Given the description of an element on the screen output the (x, y) to click on. 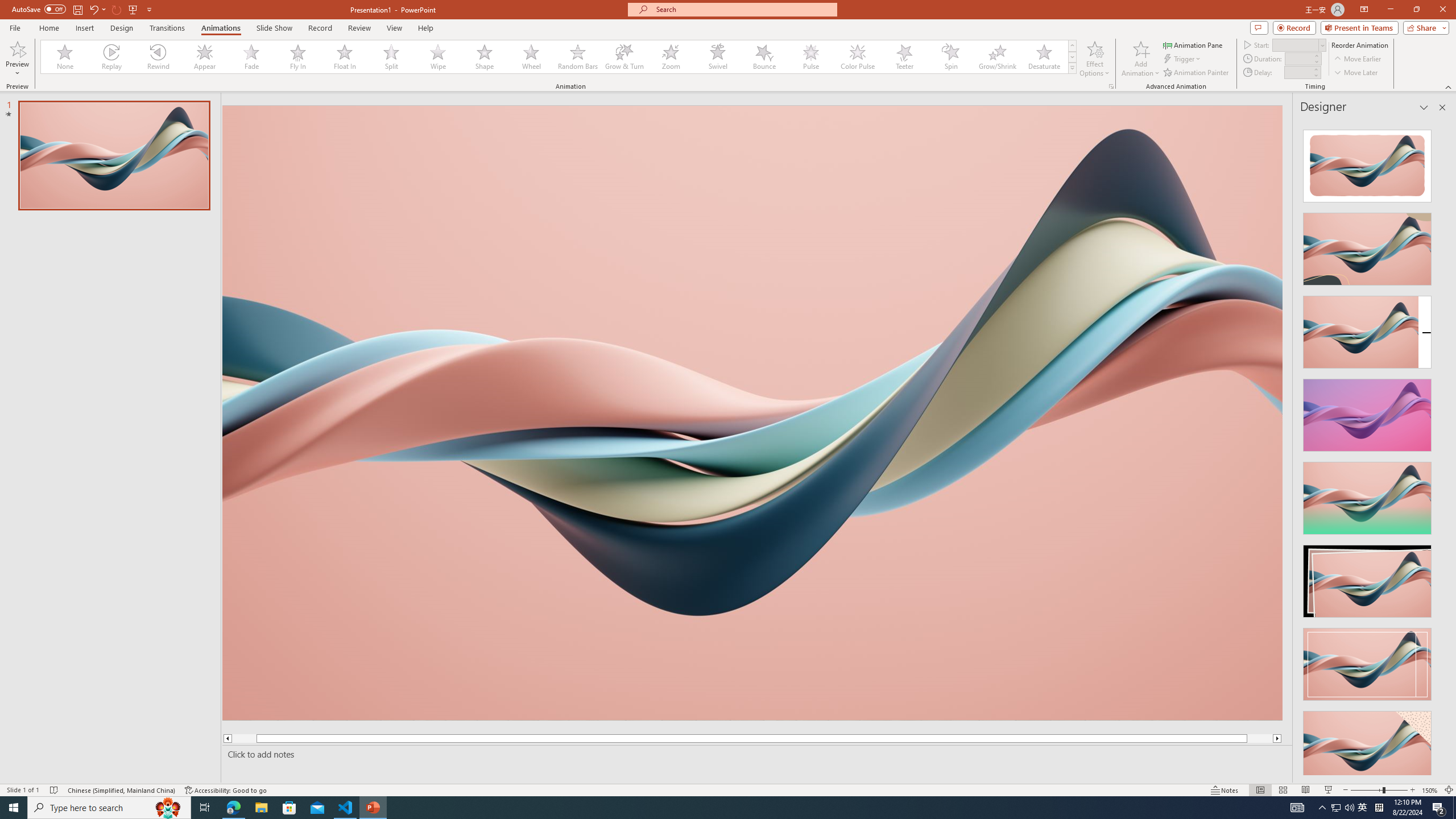
Swivel (717, 56)
Effect Options (1094, 58)
Appear (205, 56)
Random Bars (577, 56)
Trigger (1182, 58)
Grow & Turn (624, 56)
